Given the description of an element on the screen output the (x, y) to click on. 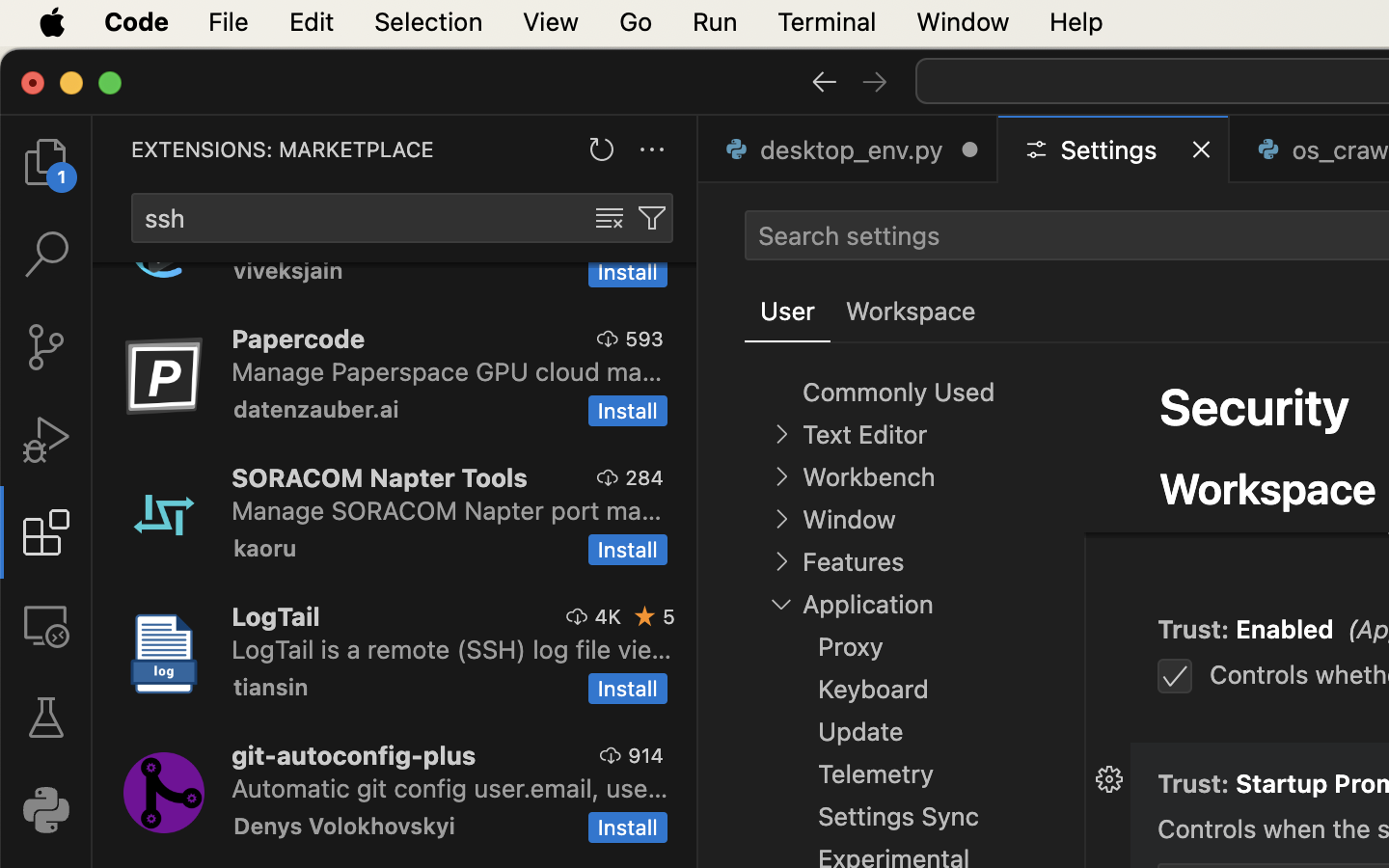
 Element type: AXStaticText (1108, 435)
git-autoconfig-plus Element type: AXStaticText (353, 754)
kaoru Element type: AXStaticText (265, 547)
 Element type: AXGroup (46, 624)
 Element type: AXButton (824, 80)
